Given the description of an element on the screen output the (x, y) to click on. 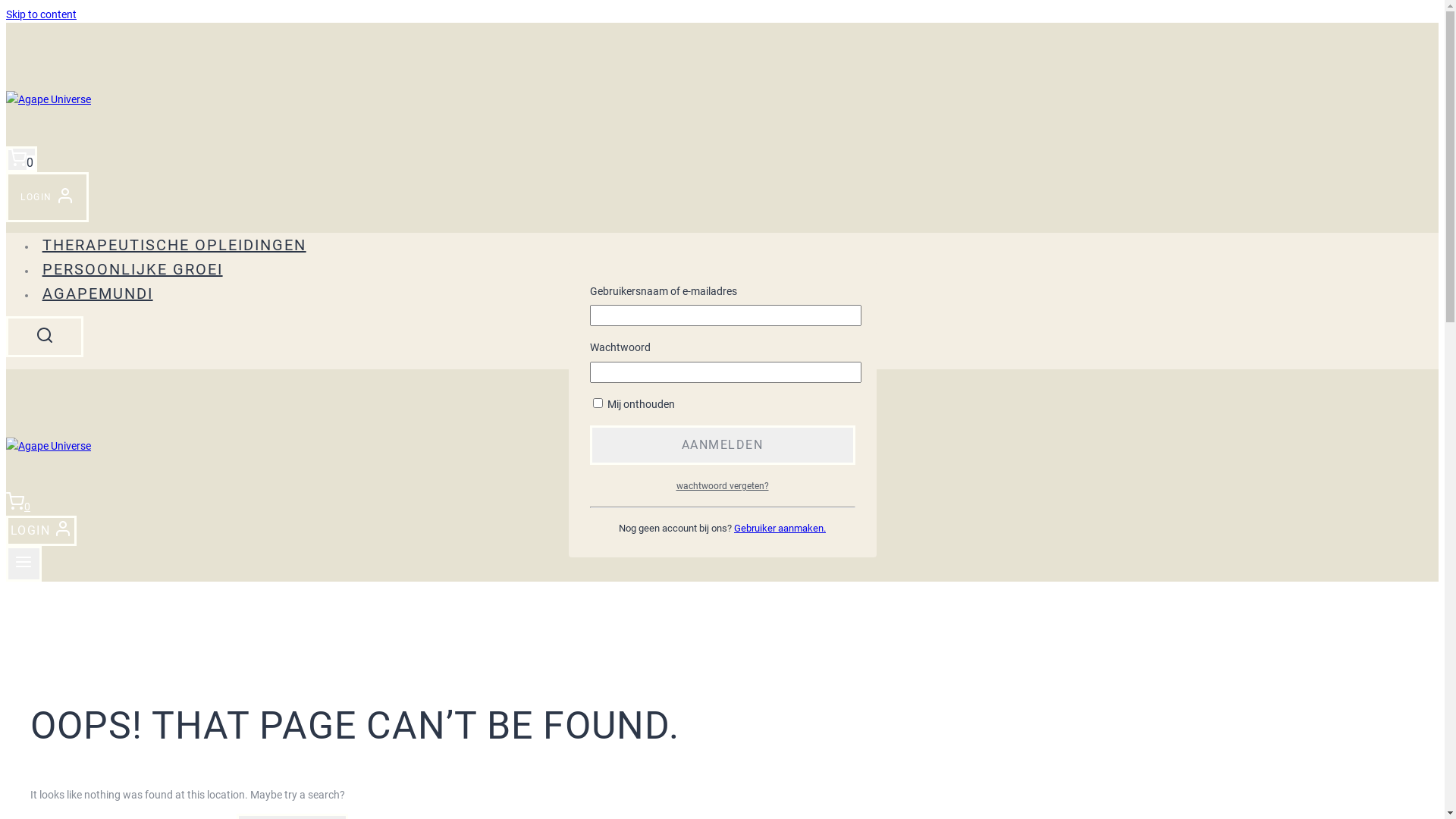
LOGIN
ACCOUNT Element type: text (47, 197)
AGAPEMUNDI Element type: text (97, 293)
Mandje 0 Element type: text (18, 506)
TOGGLE MENU Element type: text (23, 563)
THERAPEUTISCHE OPLEIDINGEN Element type: text (173, 244)
MANDJE 0 Element type: text (21, 159)
SEARCH Element type: text (44, 336)
wachtwoord vergeten? Element type: text (722, 485)
Gebruiker aanmaken. Element type: text (779, 527)
Aanmelden Element type: text (722, 444)
Skip to content Element type: text (41, 14)
PERSOONLIJKE GROEI Element type: text (132, 269)
LOGIN
ACCOUNT Element type: text (41, 530)
